Given the description of an element on the screen output the (x, y) to click on. 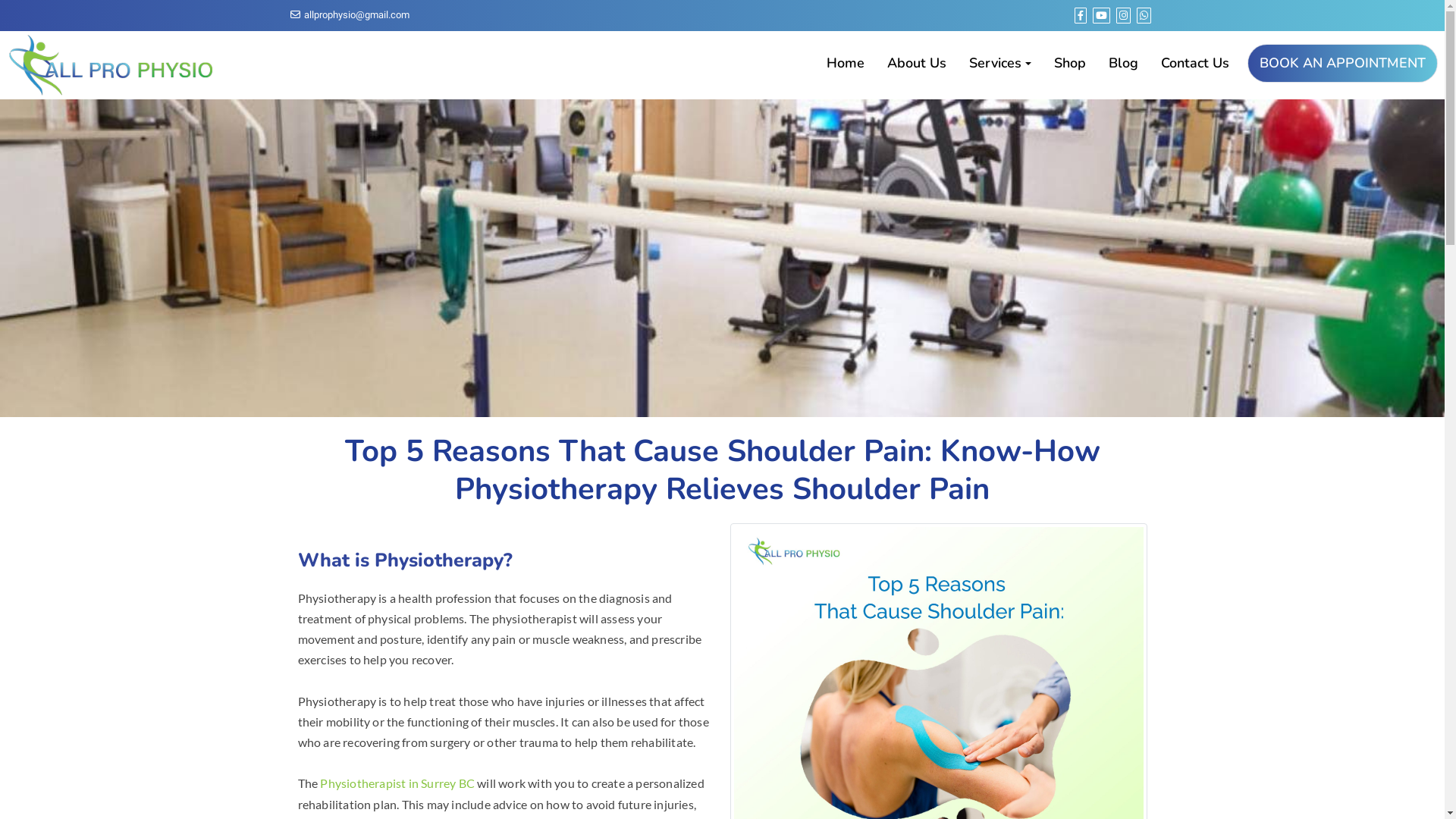
logo Element type: hover (109, 64)
Shop Element type: text (1069, 62)
Blog Element type: text (1123, 62)
Contact Us Element type: text (1194, 62)
About Us Element type: text (916, 62)
Physiotherapist in Surrey BC Element type: text (397, 782)
BOOK AN APPOINTMENT Element type: text (1342, 62)
allprophysio@gmail.com Element type: text (348, 14)
Services Element type: text (999, 62)
Home Element type: text (845, 62)
